Given the description of an element on the screen output the (x, y) to click on. 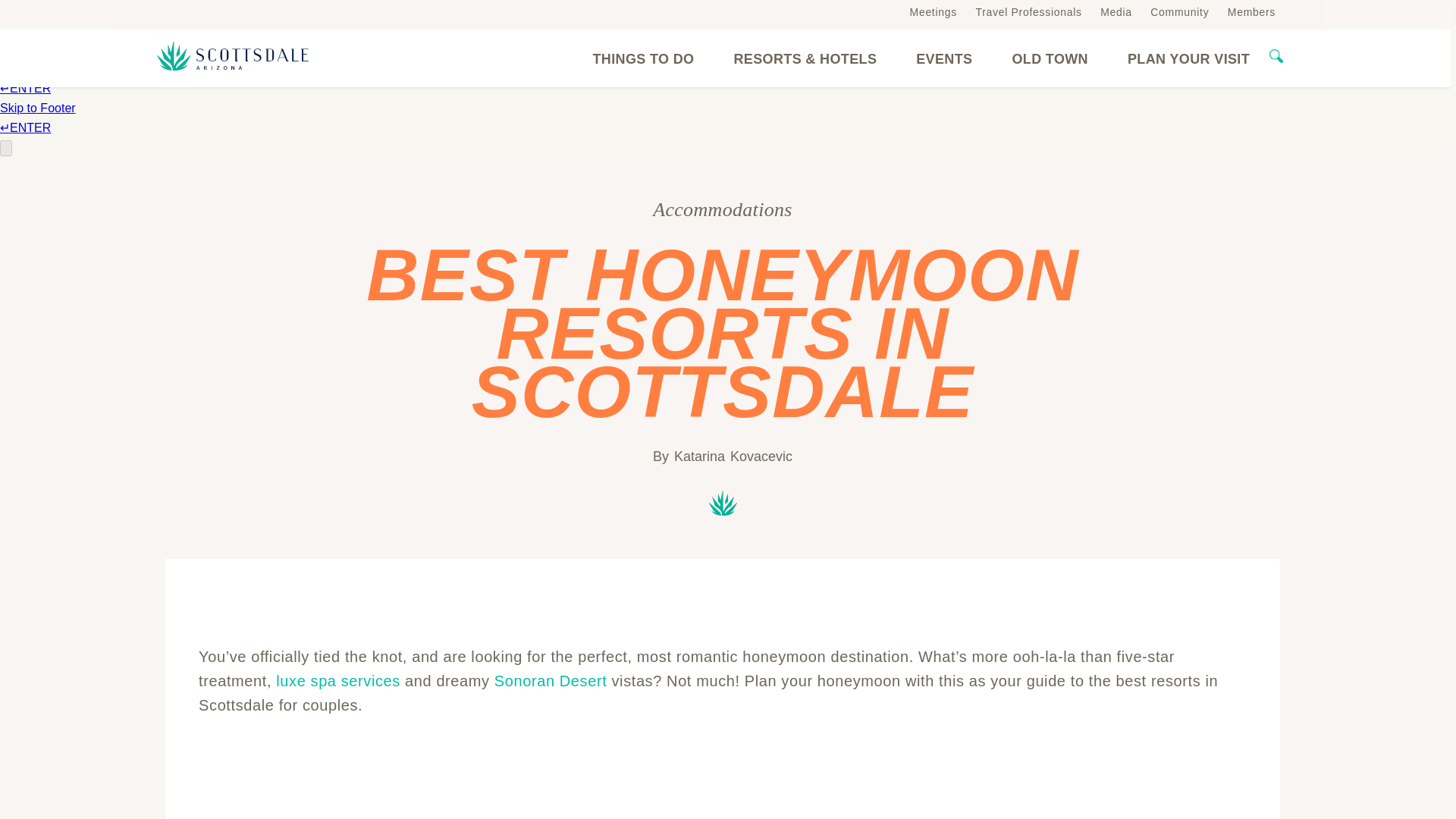
Meetings (933, 11)
Meetings (933, 11)
Travel Professionals (1028, 11)
